Given the description of an element on the screen output the (x, y) to click on. 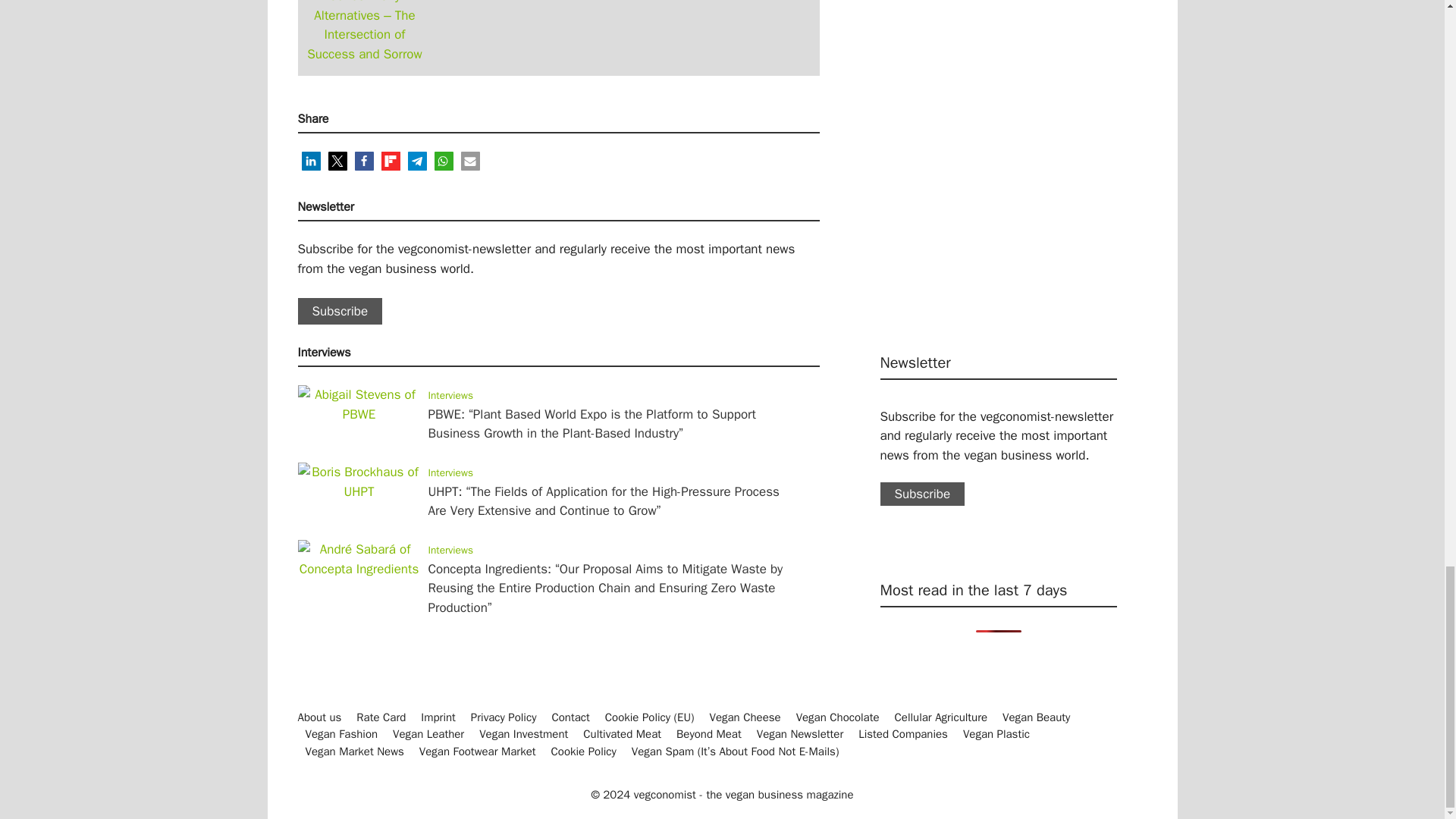
Share on Flipboard (389, 160)
Share on Telegram (416, 160)
Share on LinkedIn (310, 160)
Share on Whatsapp (442, 160)
Share on Facebook (364, 160)
Share on X (336, 160)
